Given the description of an element on the screen output the (x, y) to click on. 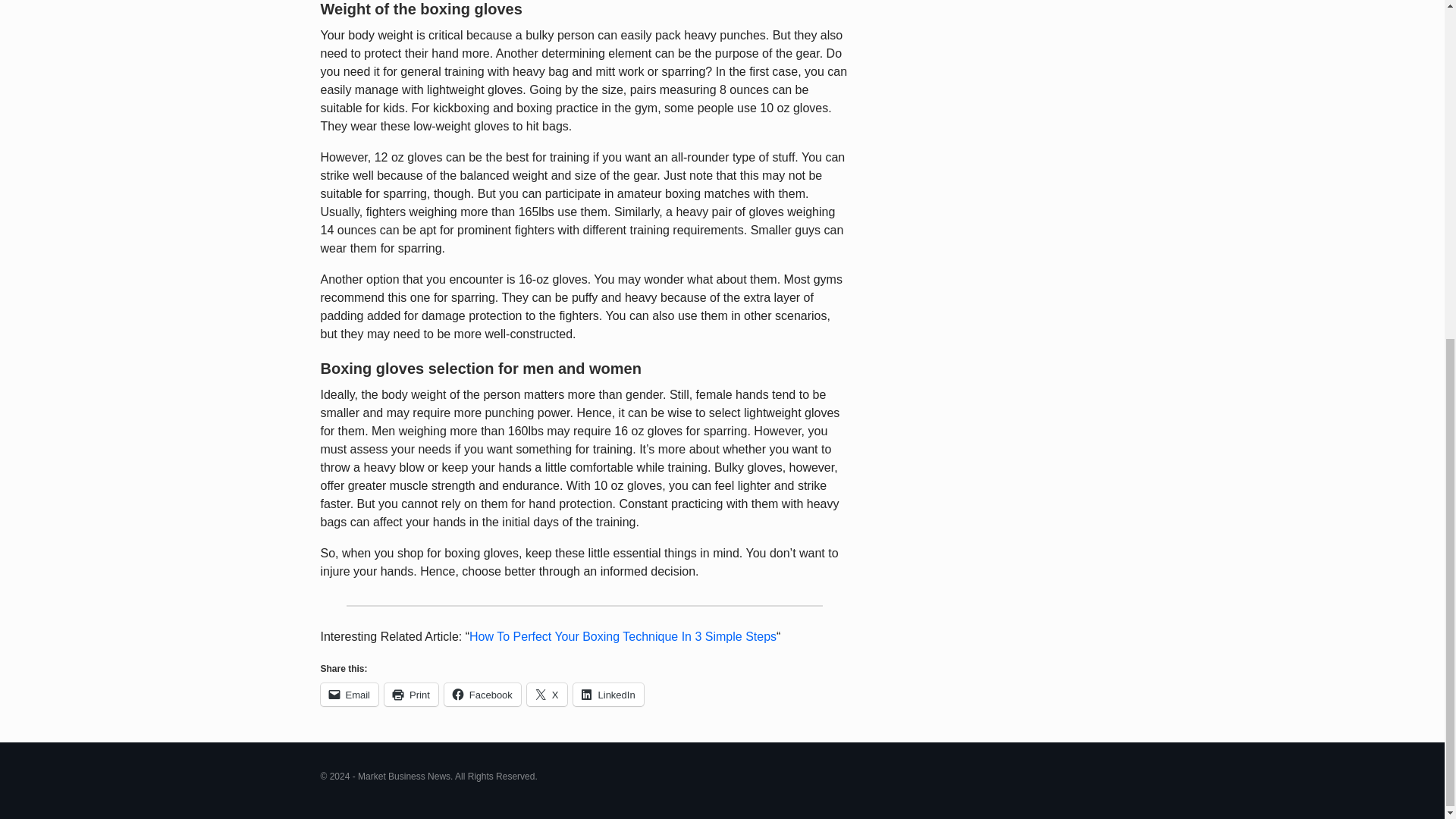
Email (349, 694)
X (547, 694)
Facebook (482, 694)
How To Perfect Your Boxing Technique In 3 Simple Steps (622, 635)
Click to print (411, 694)
Click to share on Facebook (482, 694)
Print (411, 694)
Click to share on X (547, 694)
LinkedIn (608, 694)
Click to share on LinkedIn (608, 694)
Click to email a link to a friend (349, 694)
